Given the description of an element on the screen output the (x, y) to click on. 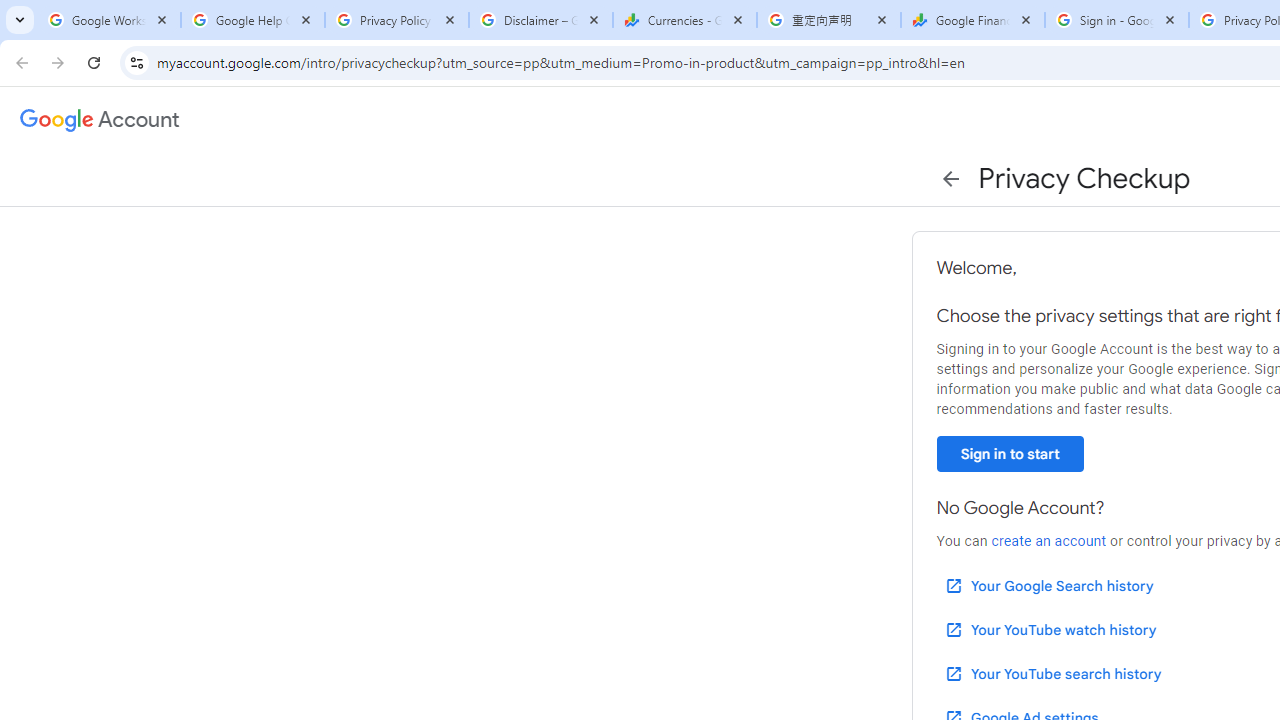
Sign in to start (1009, 454)
Google Account settings (100, 120)
Google Workspace Admin Community (108, 20)
Sign in - Google Accounts (1116, 20)
Currencies - Google Finance (684, 20)
Your Google Search history (1048, 586)
create an account (1048, 541)
